Given the description of an element on the screen output the (x, y) to click on. 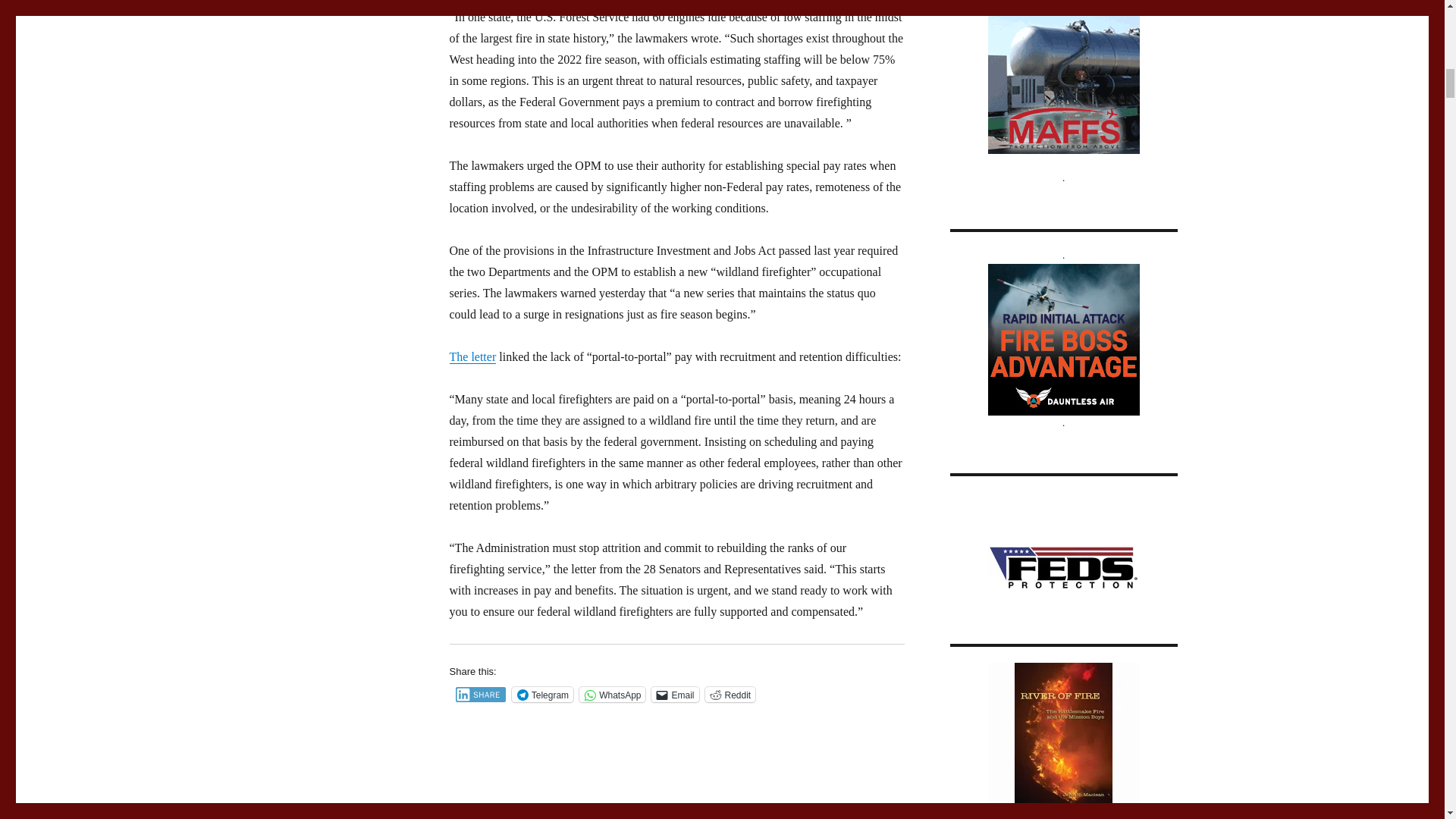
Telegram (542, 694)
Click to email a link to a friend (674, 694)
Email (674, 694)
Click to share on Telegram (542, 694)
Reddit (729, 694)
SHARE (479, 694)
Click to share on Reddit (729, 694)
Click to share on WhatsApp (612, 694)
WhatsApp (612, 694)
The letter (472, 356)
